Given the description of an element on the screen output the (x, y) to click on. 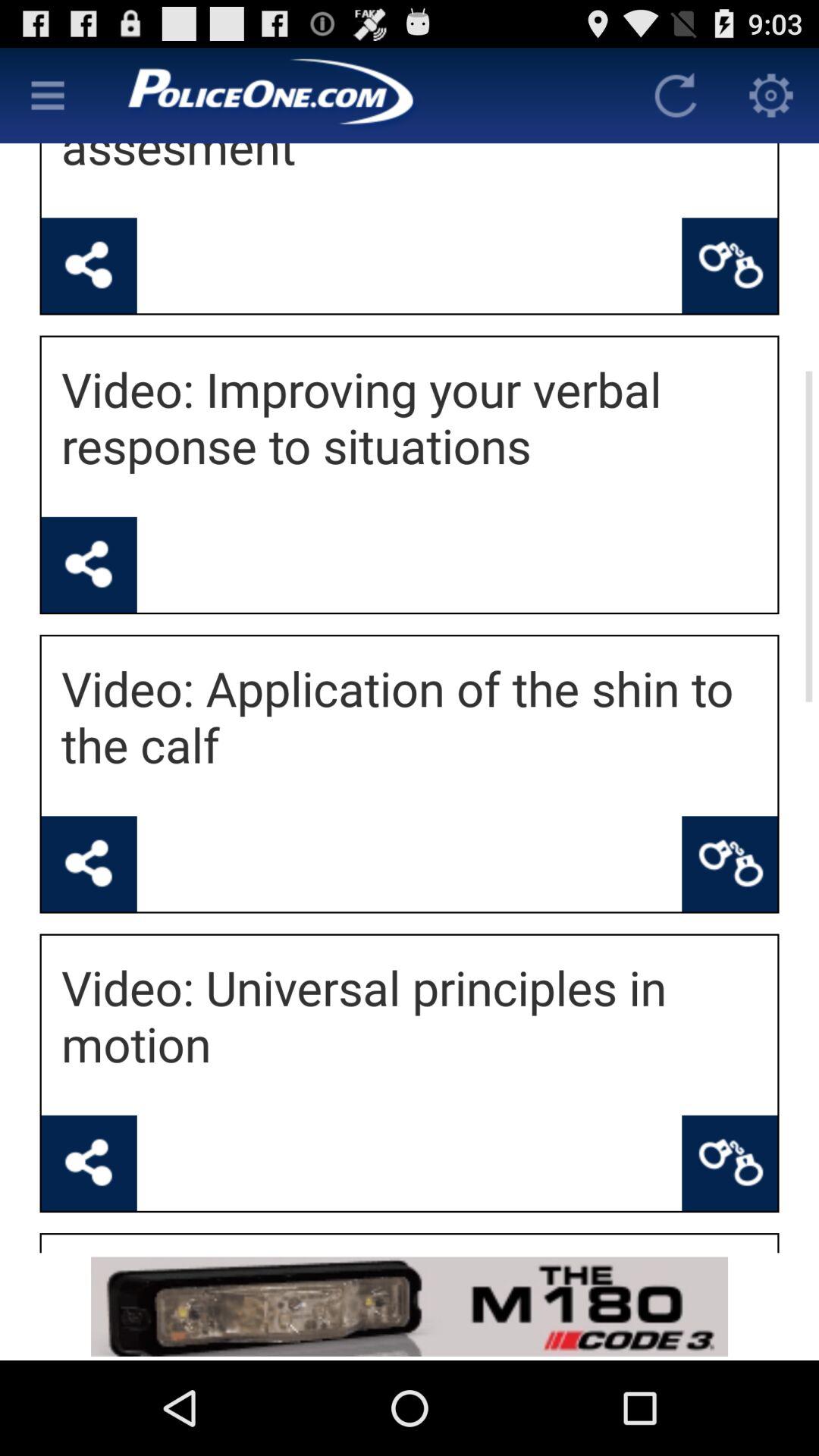
title (361, 95)
